Given the description of an element on the screen output the (x, y) to click on. 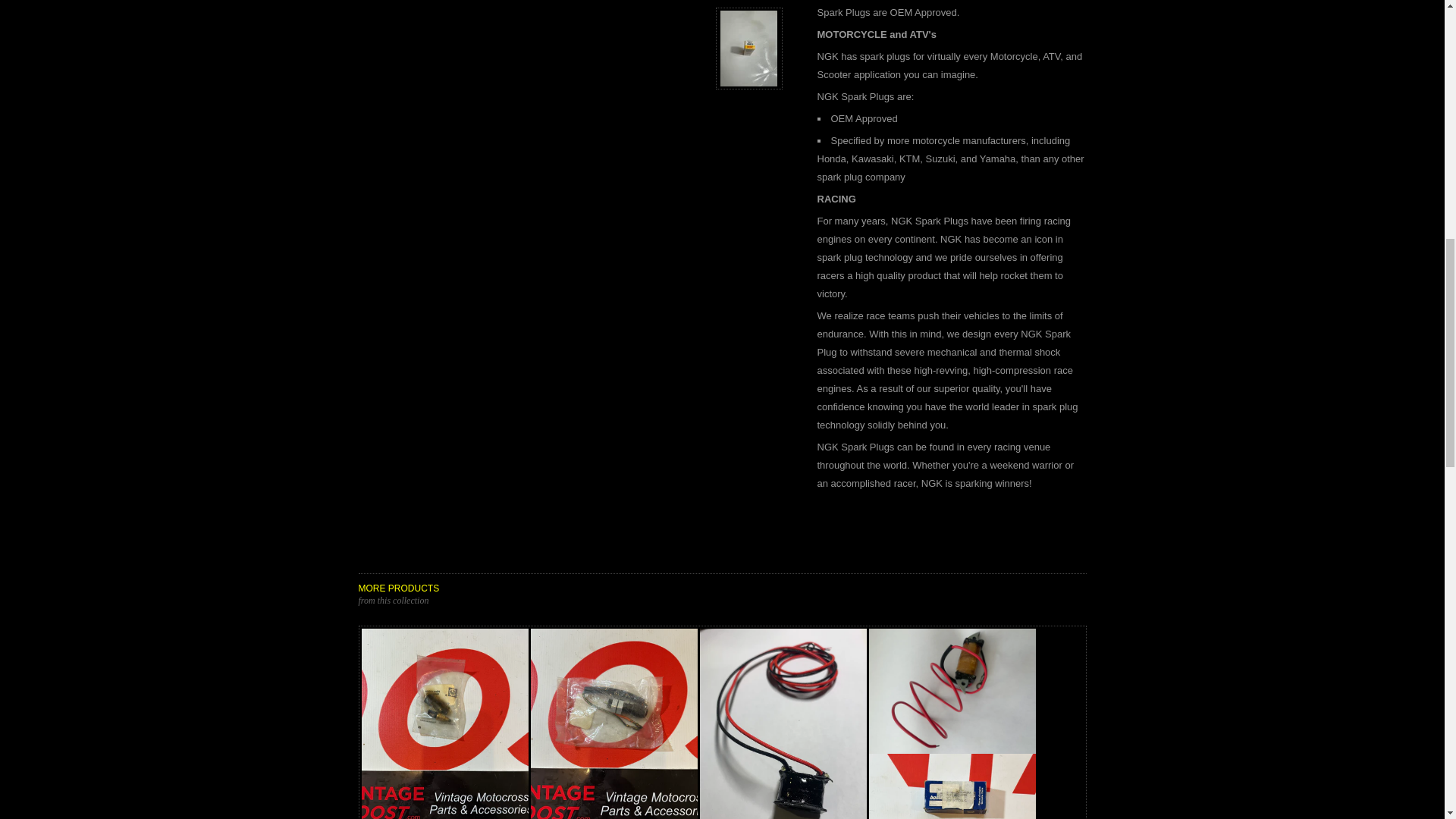
Brake Light Switch, TNT Style, NOS (614, 723)
Brake Light Switch, Qualifier Style, NOS (444, 723)
Can Am Coil, 4 Pole, Bar, NOS (952, 786)
